Given the description of an element on the screen output the (x, y) to click on. 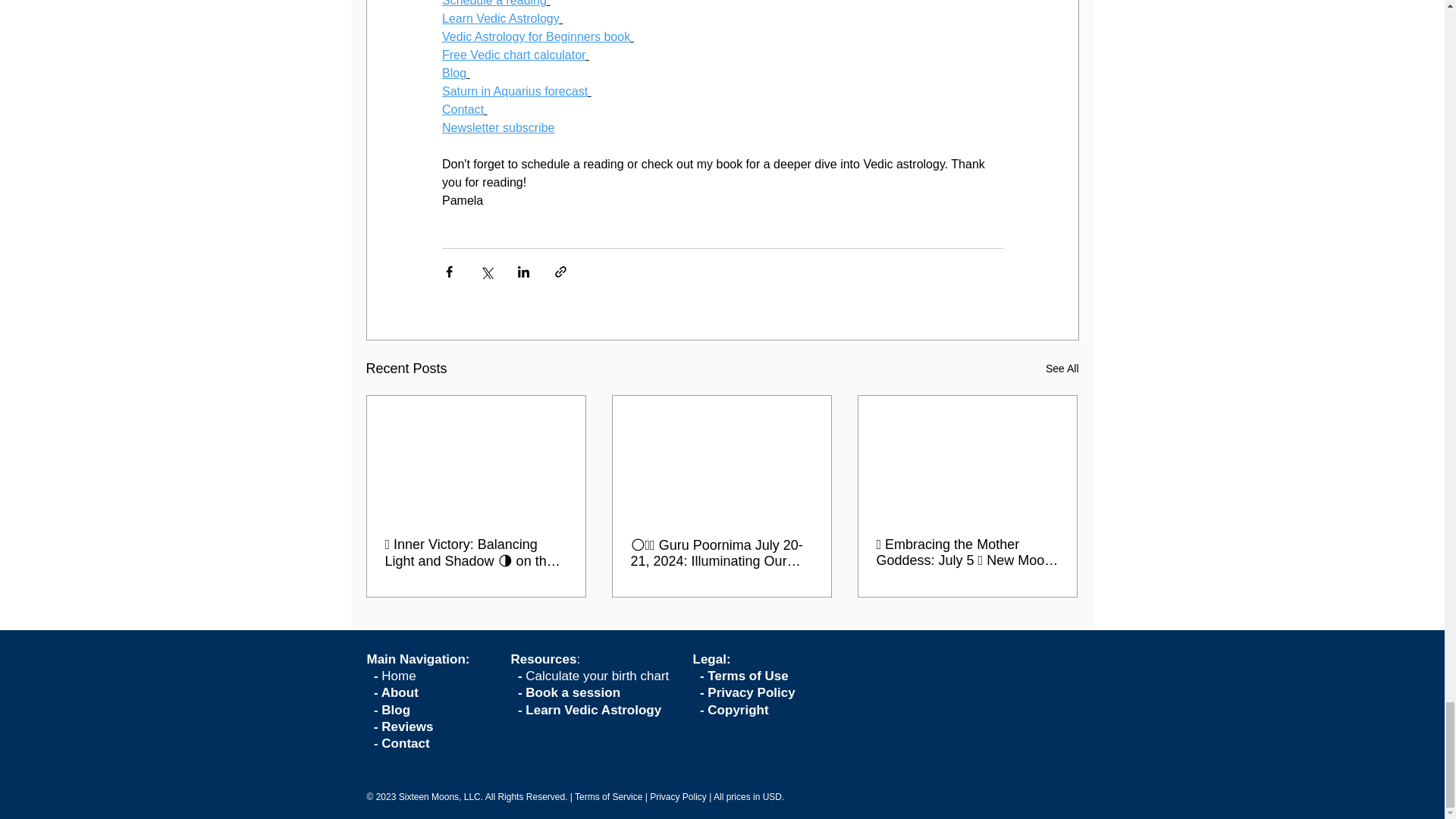
Vedic Astrology for Beginners book (534, 36)
Learn Vedic Astrology (500, 18)
Free Vedic chart calculator (513, 54)
Schedule a reading (493, 3)
Saturn in Aquarius forecast (513, 91)
Blog (453, 72)
Contact (462, 109)
Newsletter subscribe (497, 127)
